Given the description of an element on the screen output the (x, y) to click on. 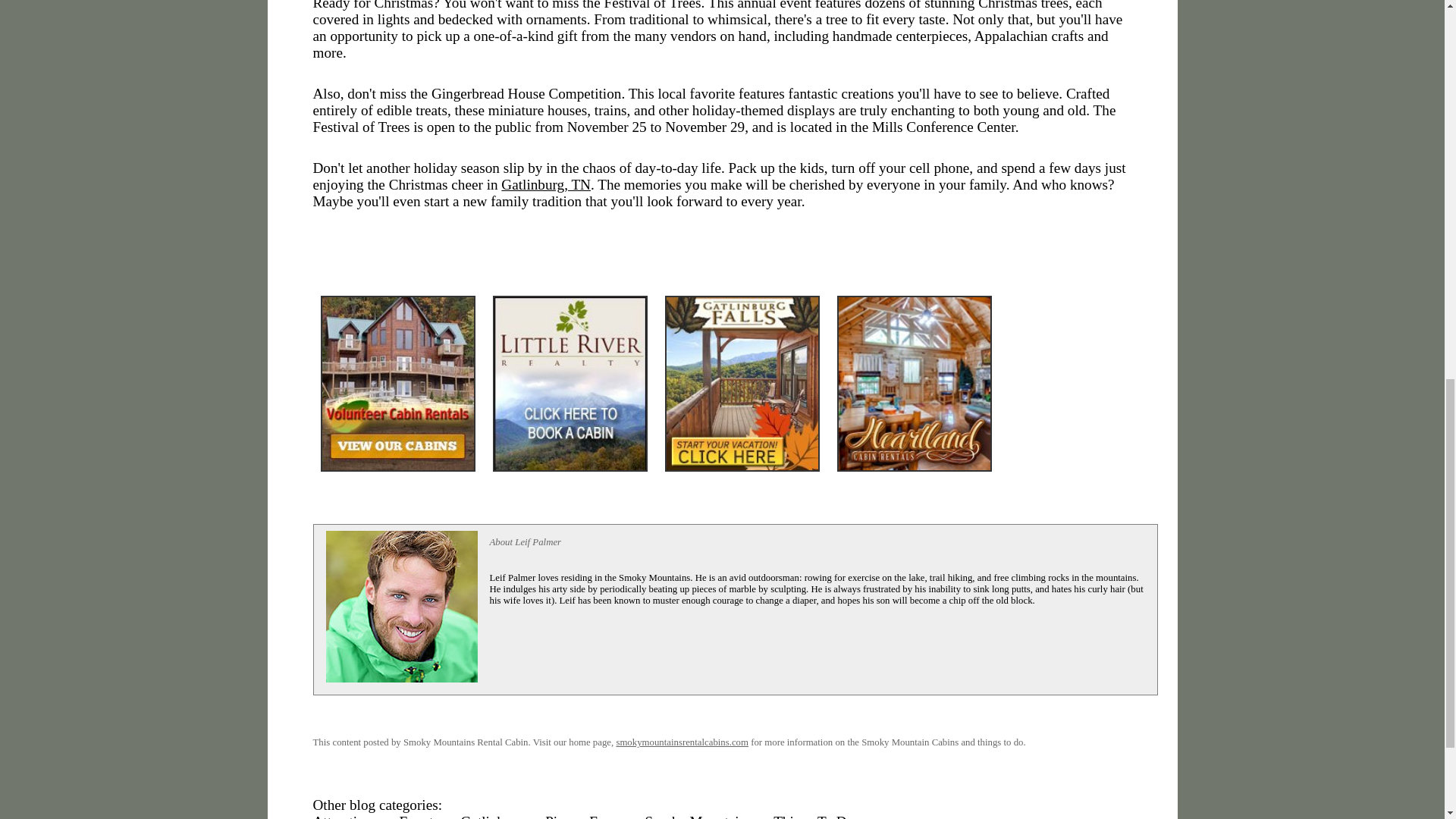
Pigeon Forge (583, 816)
Gatlinburg, TN (545, 184)
Events (418, 816)
Smoky Mountains (698, 816)
Gatlinburg (492, 816)
Attractions (345, 816)
Smokies blogger (401, 606)
Things To Do (813, 816)
smokymountainsrentalcabins.com (681, 742)
